Given the description of an element on the screen output the (x, y) to click on. 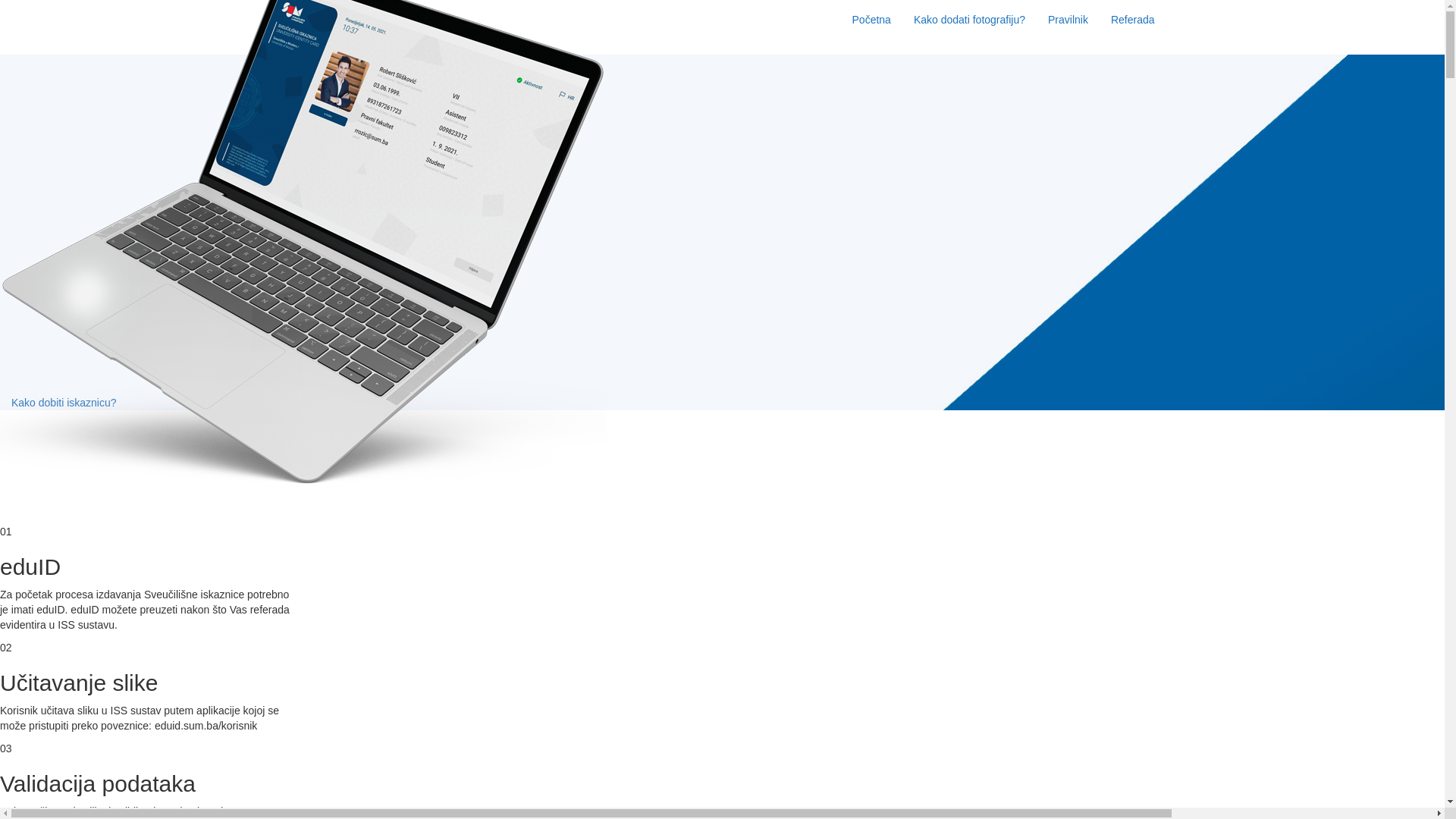
Kako dobiti iskaznicu? Element type: text (63, 402)
Pravilnik Element type: text (1067, 19)
Referada Element type: text (1132, 19)
Kako dodati fotografiju? Element type: text (969, 19)
